Given the description of an element on the screen output the (x, y) to click on. 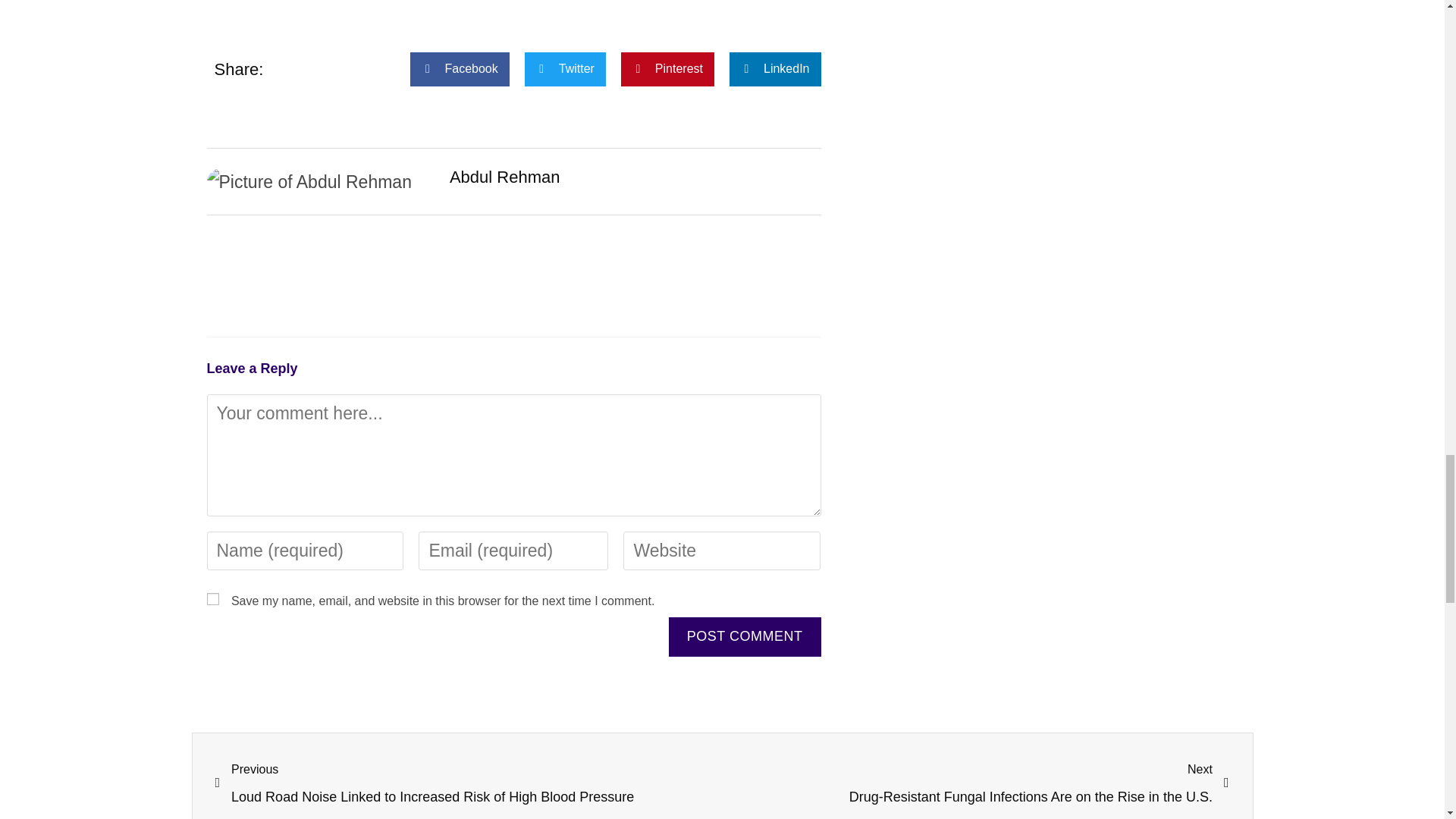
yes (212, 598)
Post Comment (744, 636)
Post Comment (744, 636)
